Given the description of an element on the screen output the (x, y) to click on. 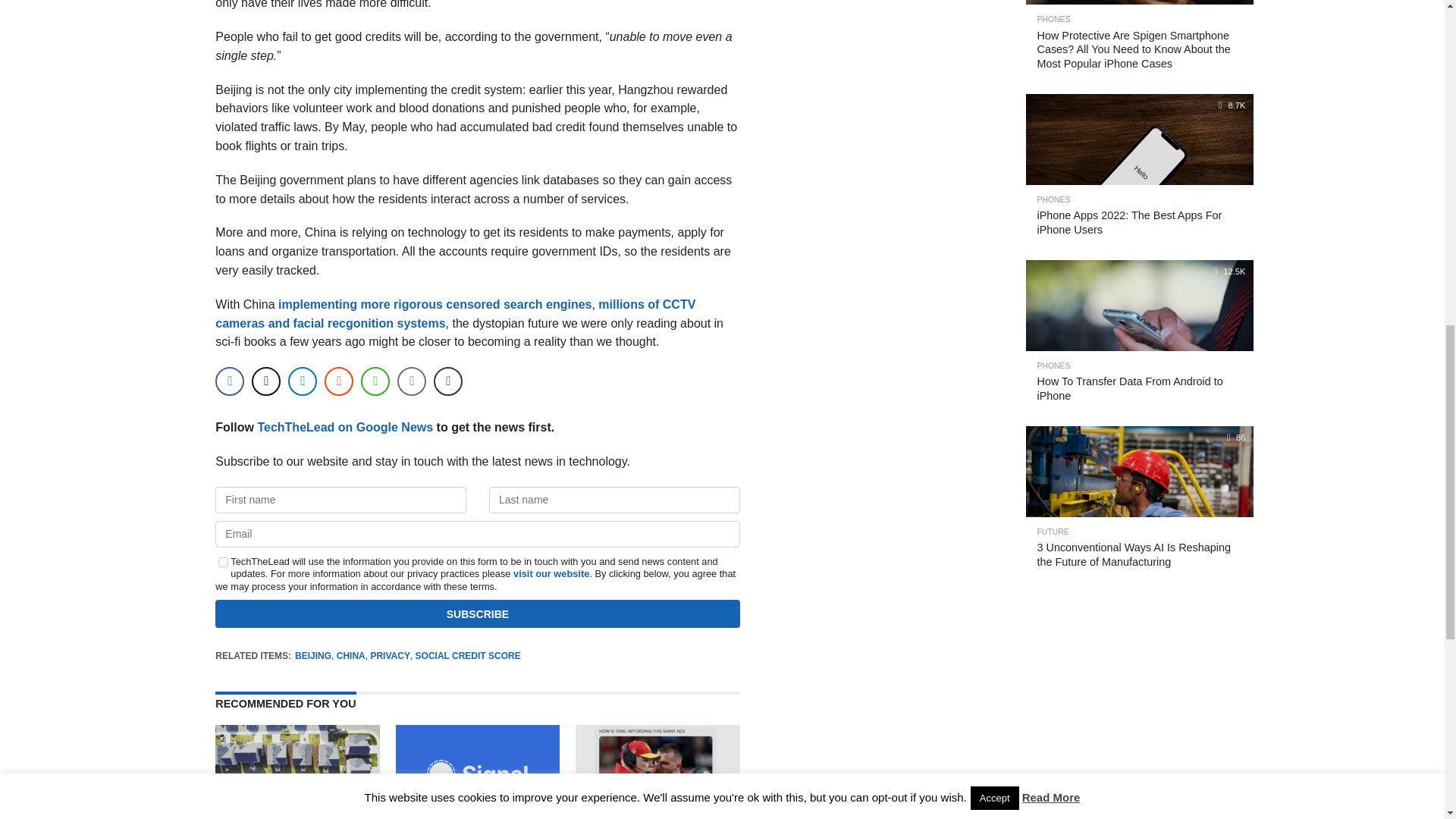
1 (223, 562)
How to Get A Signal Username (478, 816)
Subscribe (477, 613)
